Given the description of an element on the screen output the (x, y) to click on. 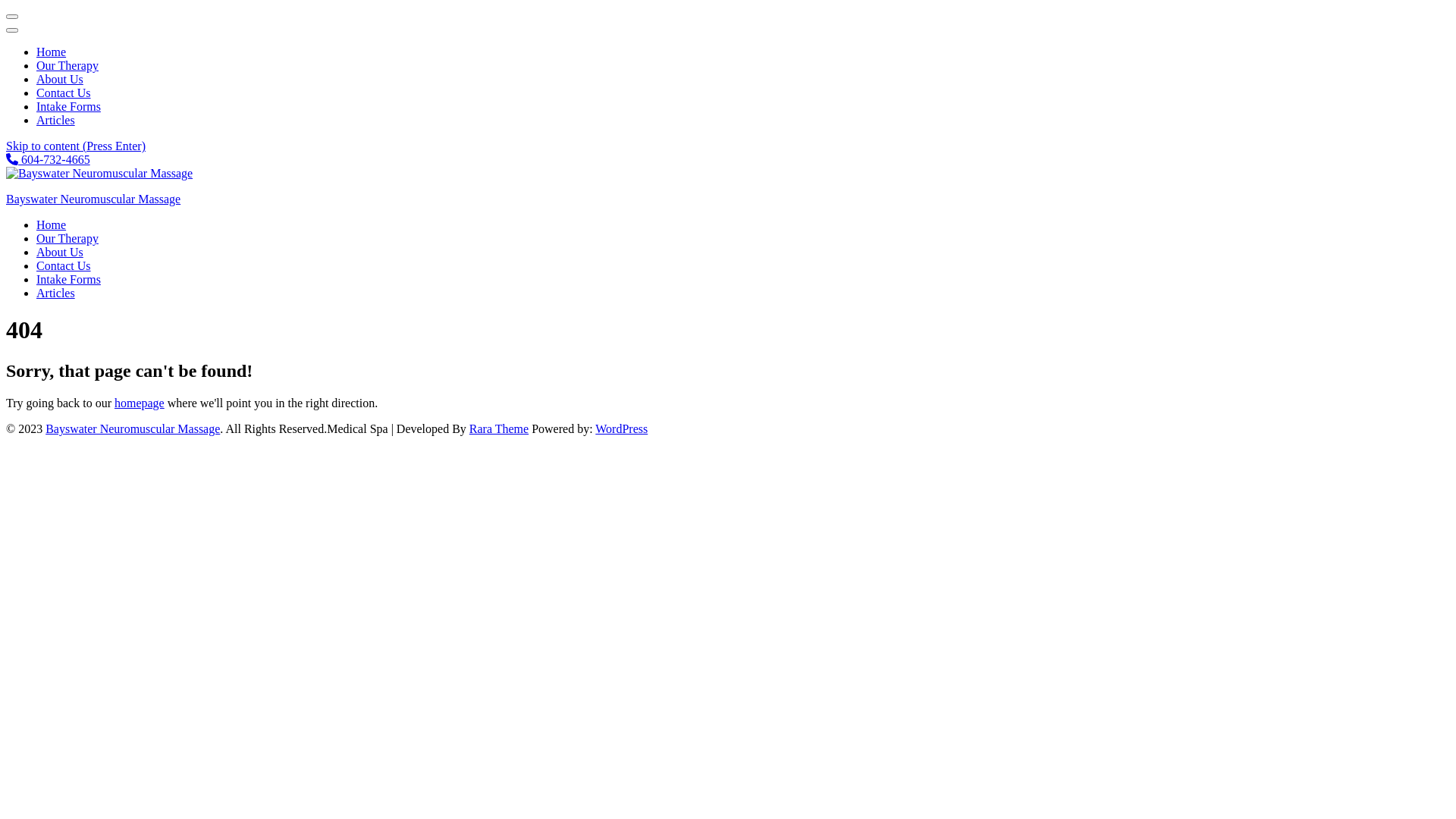
Skip to content (Press Enter) Element type: text (75, 145)
604-732-4665 Element type: text (48, 159)
Bayswater Neuromuscular Massage Element type: text (132, 428)
Intake Forms Element type: text (68, 106)
About Us Element type: text (59, 78)
Our Therapy Element type: text (67, 238)
Our Therapy Element type: text (67, 65)
Rara Theme Element type: text (498, 428)
homepage Element type: text (139, 402)
Articles Element type: text (55, 292)
Home Element type: text (50, 51)
Intake Forms Element type: text (68, 279)
Contact Us Element type: text (63, 92)
Bayswater Neuromuscular Massage Element type: text (93, 198)
Articles Element type: text (55, 119)
About Us Element type: text (59, 251)
Contact Us Element type: text (63, 265)
WordPress Element type: text (621, 428)
Home Element type: text (50, 224)
